Given the description of an element on the screen output the (x, y) to click on. 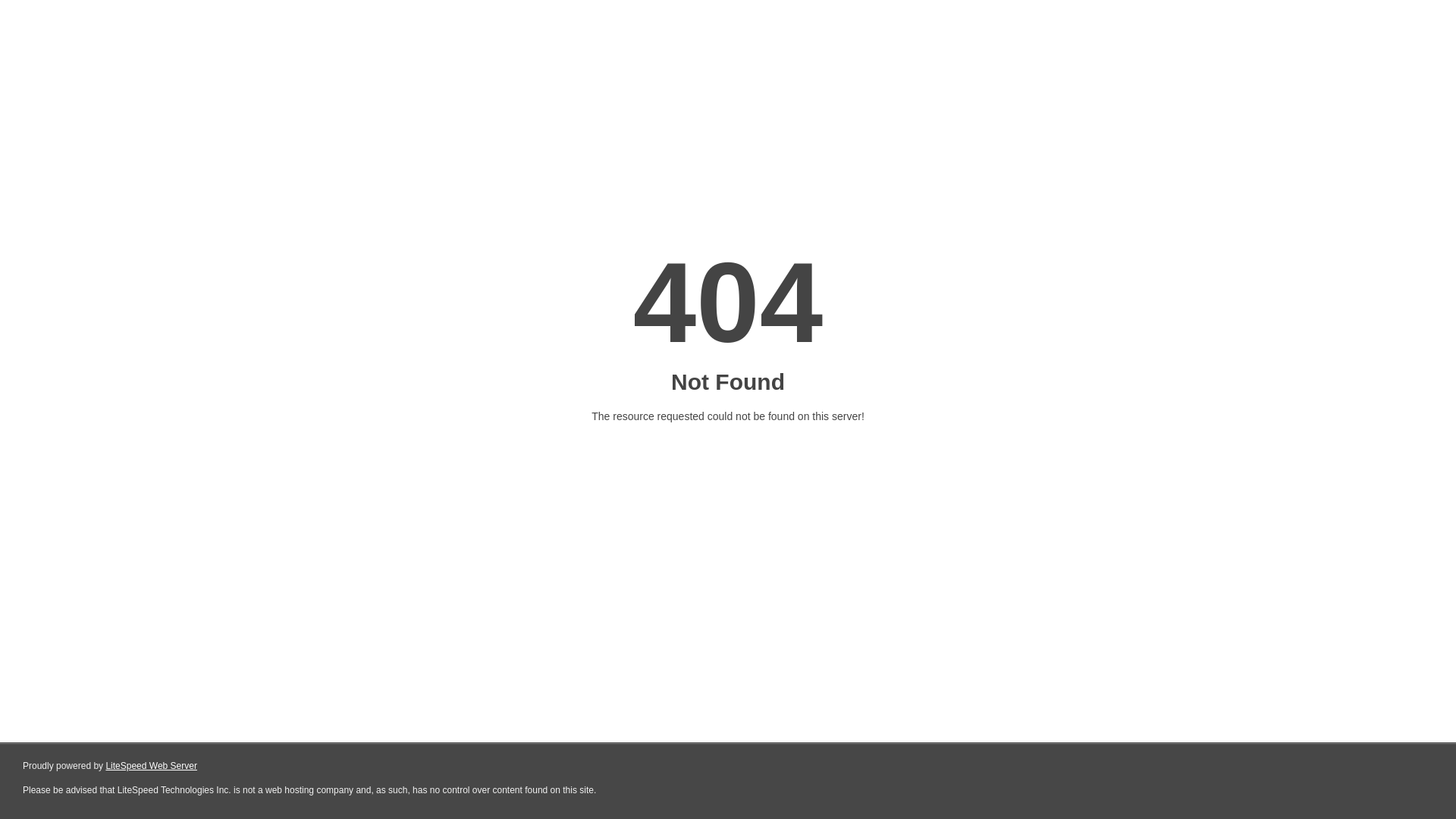
LiteSpeed Web Server Element type: text (151, 765)
